Given the description of an element on the screen output the (x, y) to click on. 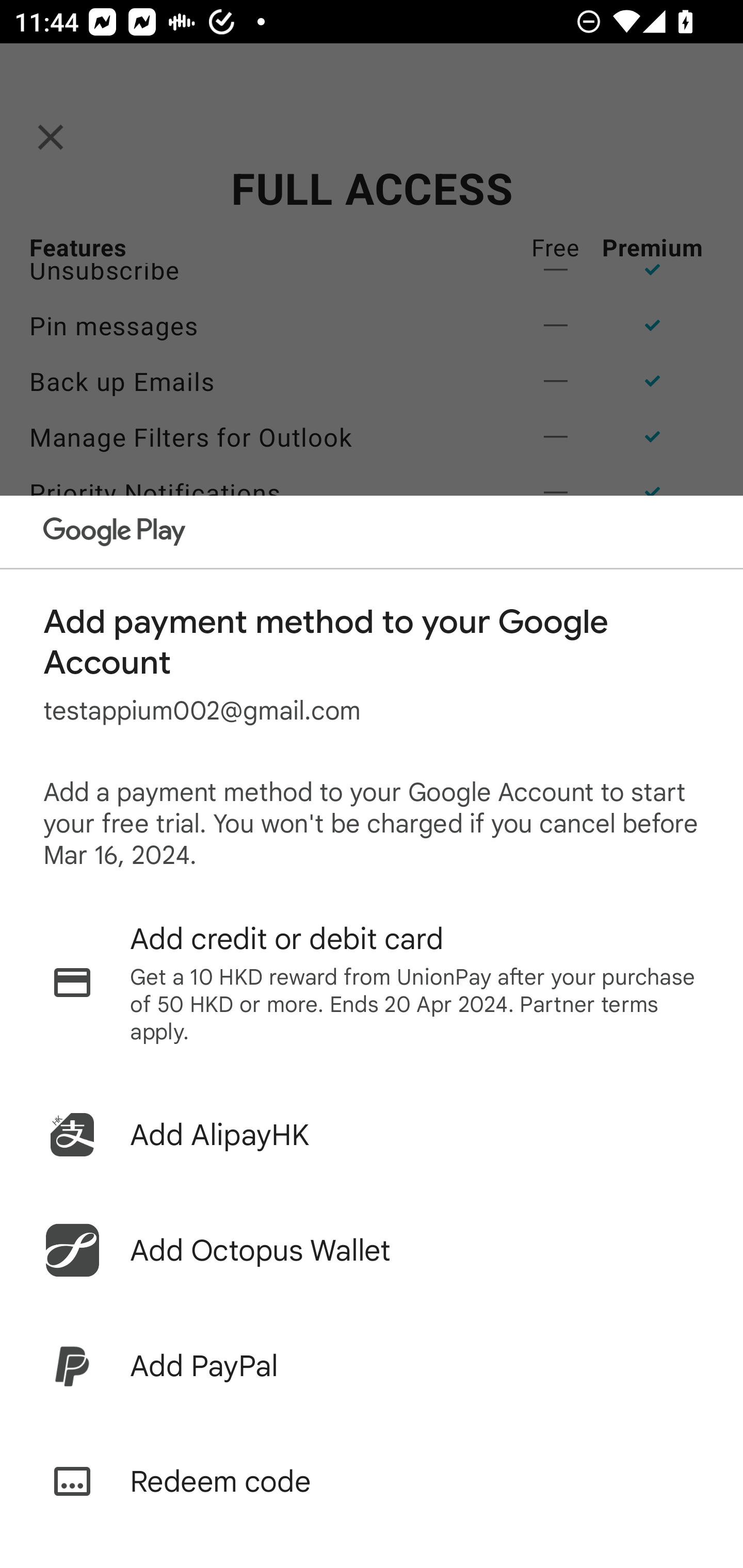
Add AlipayHK (371, 1135)
Add Octopus Wallet (371, 1250)
Add PayPal (371, 1365)
Redeem code (371, 1481)
